Given the description of an element on the screen output the (x, y) to click on. 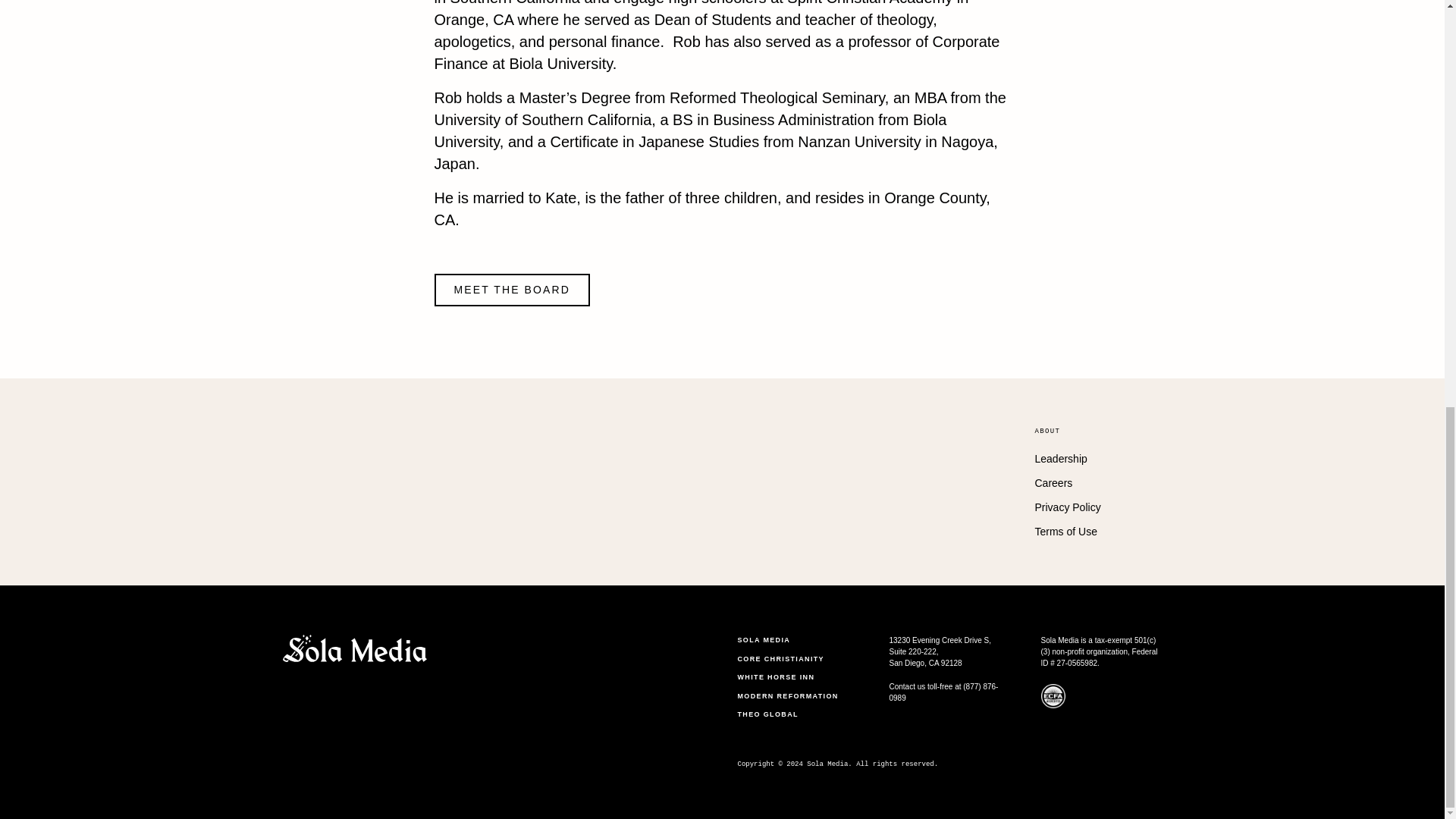
Sola-Media-logo1.svg (354, 647)
MODERN REFORMATION (793, 696)
Terms of Use (1088, 531)
Privacy Policy (1088, 507)
WHITE HORSE INN (793, 678)
SOLA MEDIA (793, 640)
Careers (1088, 483)
THEO GLOBAL (793, 714)
MEET THE BOARD (511, 289)
ecfa-accredited.png (1052, 695)
